Given the description of an element on the screen output the (x, y) to click on. 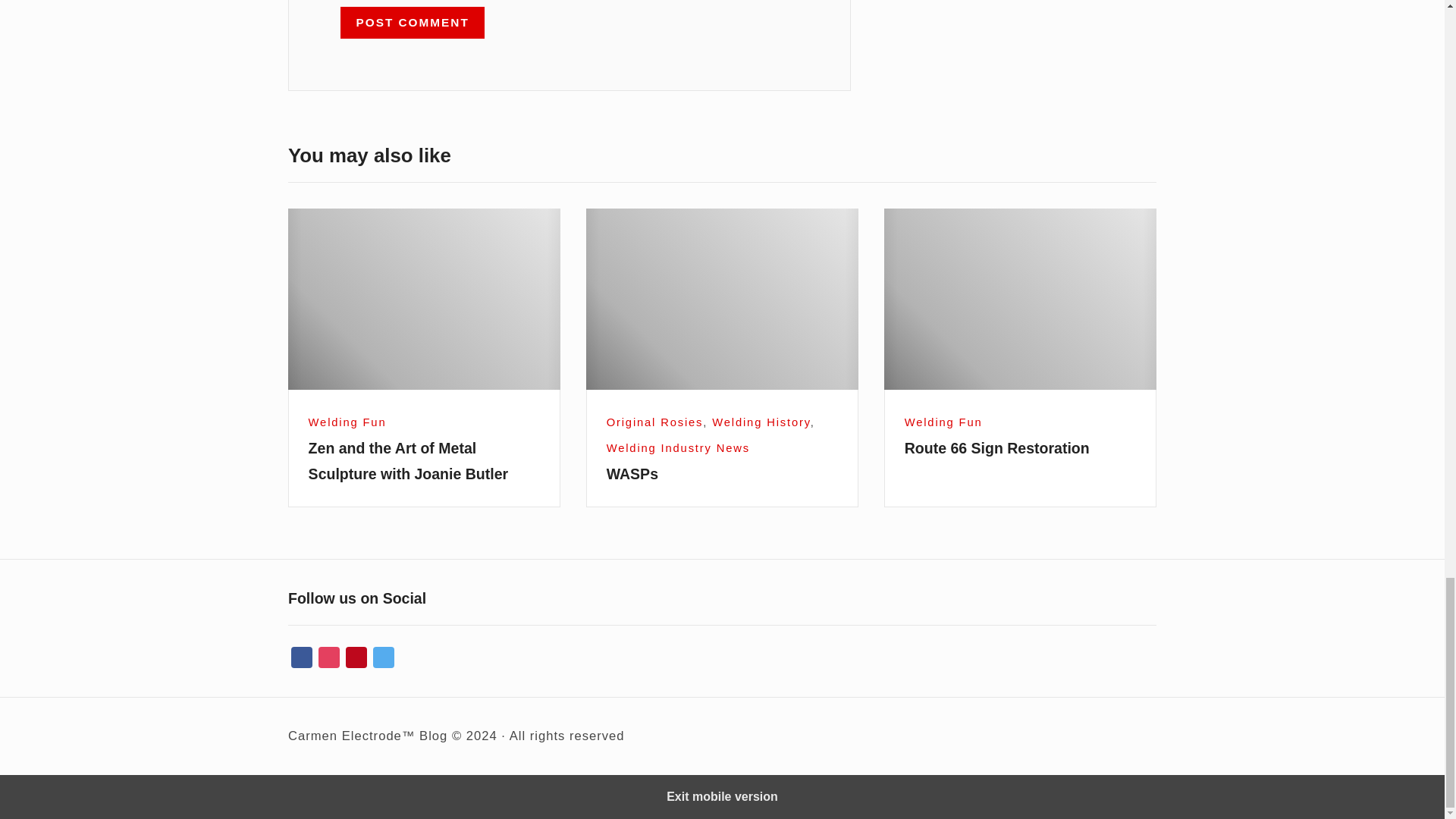
Facebook (301, 658)
Post Comment (412, 22)
Instagram (328, 658)
Post Comment (412, 22)
